Given the description of an element on the screen output the (x, y) to click on. 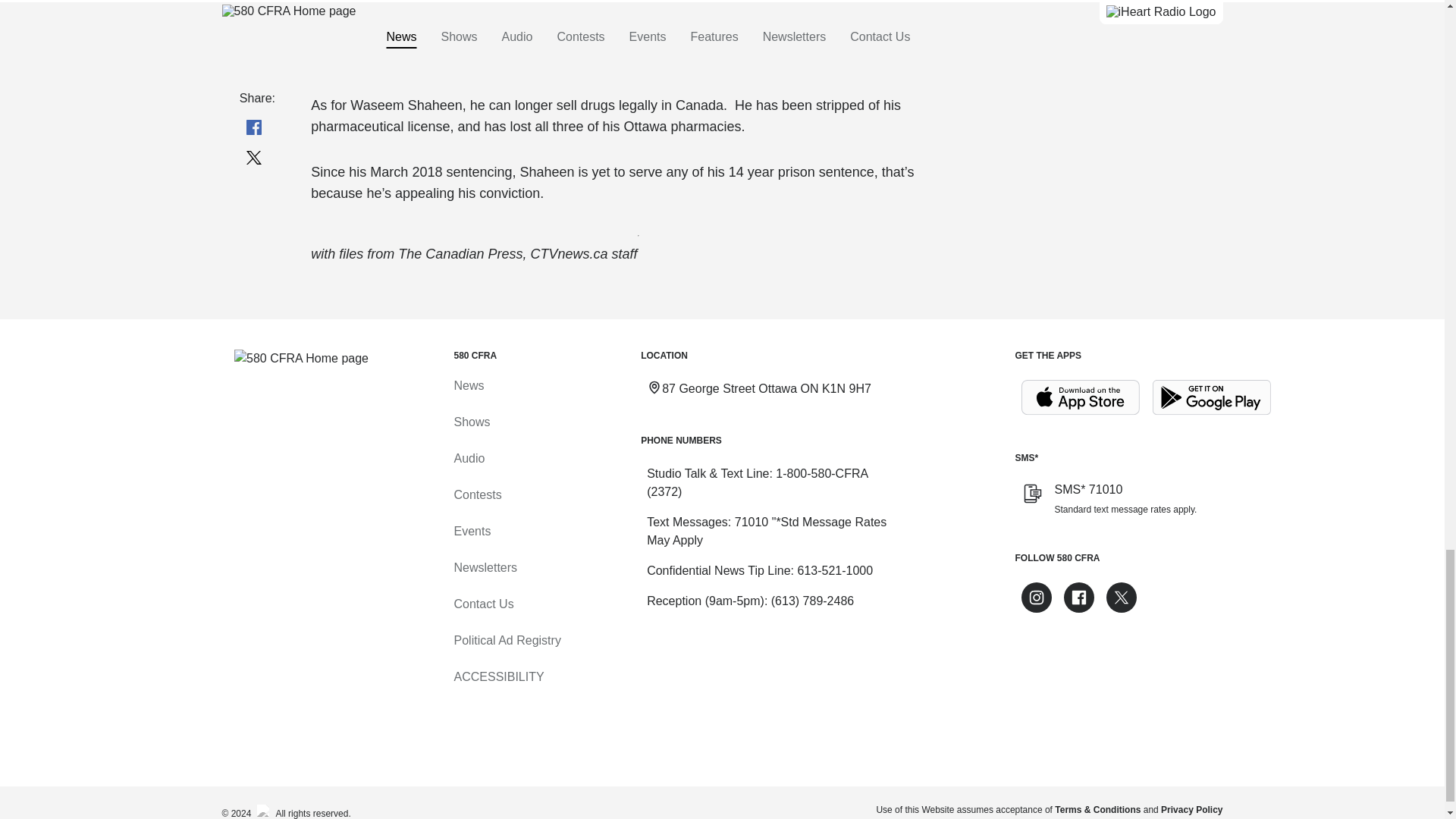
Get it on Google Play (1212, 397)
Political Ad Registry (506, 640)
Audio (468, 458)
Newsletters (484, 567)
Download on the App Store (1080, 397)
Contests (476, 494)
Accessibility (497, 676)
Contact Us (482, 603)
613-521-1000 (834, 570)
Privacy Policy (1191, 809)
